Given the description of an element on the screen output the (x, y) to click on. 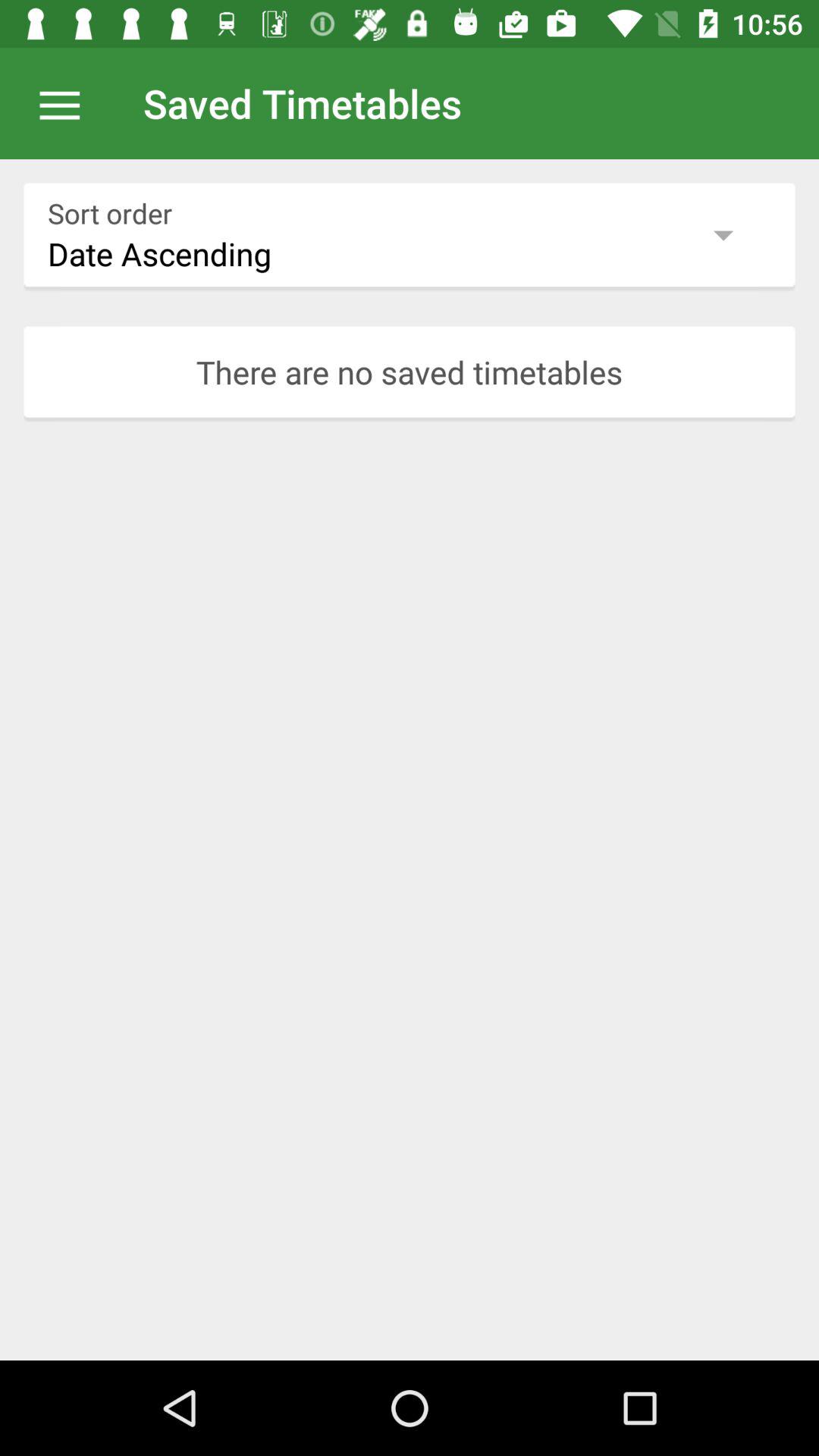
menu options (67, 103)
